Given the description of an element on the screen output the (x, y) to click on. 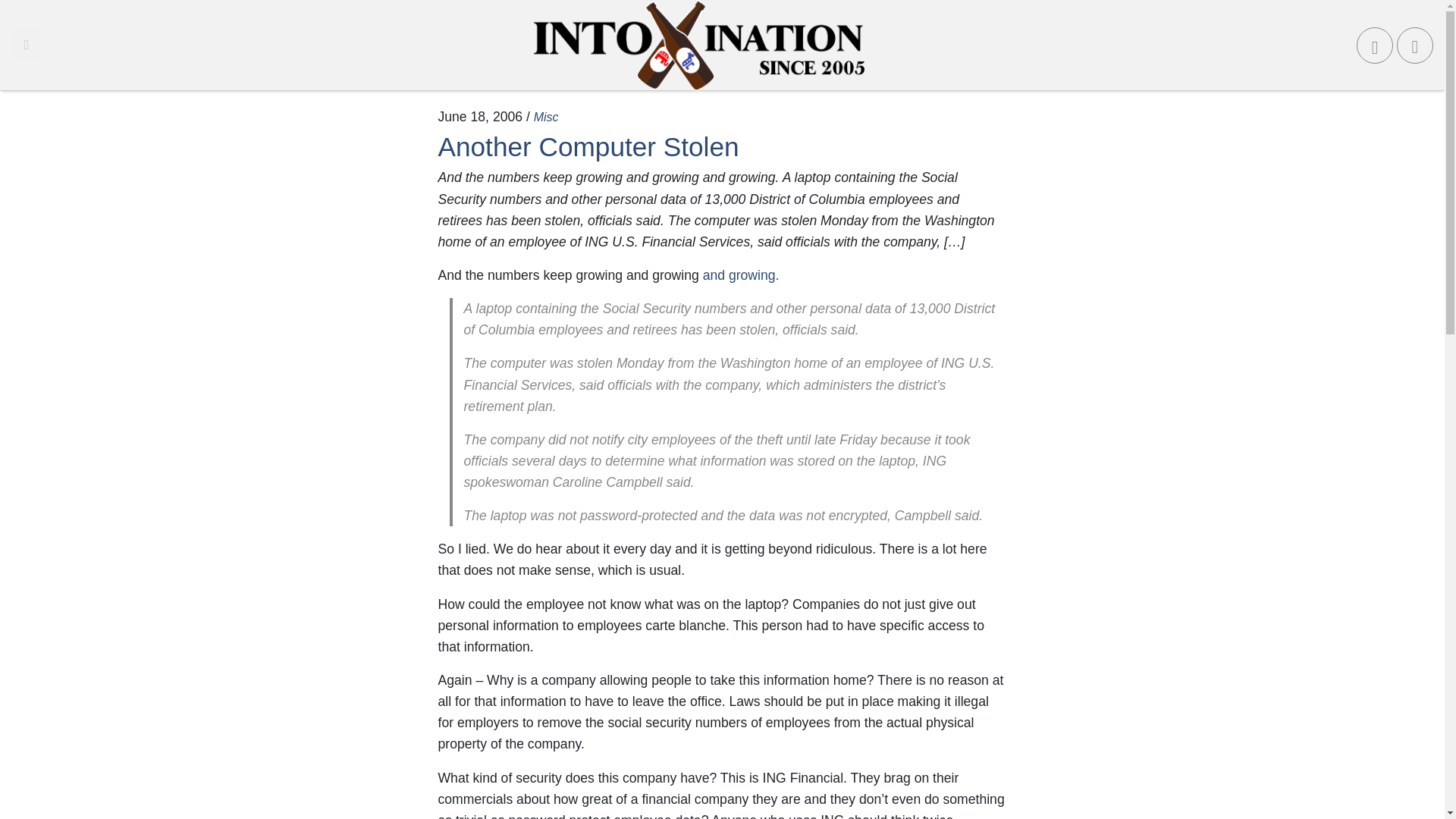
and growing. (738, 274)
Another Computer Stolen (588, 146)
Misc (546, 116)
Another Computer Stolen (588, 146)
